Given the description of an element on the screen output the (x, y) to click on. 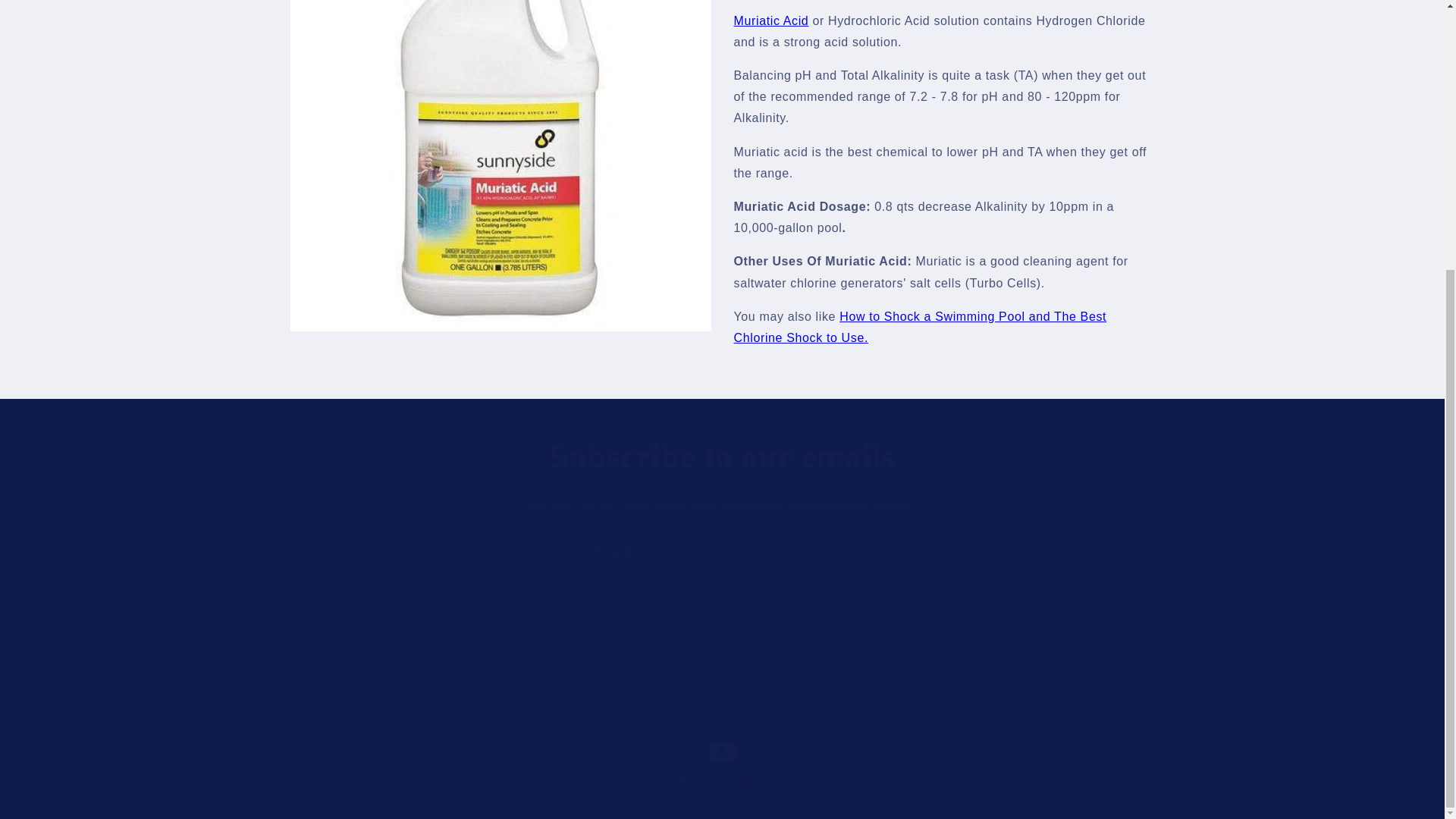
About Us (922, 668)
Terms of Service (465, 670)
Subscribe to our emails (722, 457)
Privacy Policy (844, 668)
Return Policy (753, 668)
Muriatic Acid (771, 20)
Muriatic Acid for Swimming Pool (771, 20)
